Given the description of an element on the screen output the (x, y) to click on. 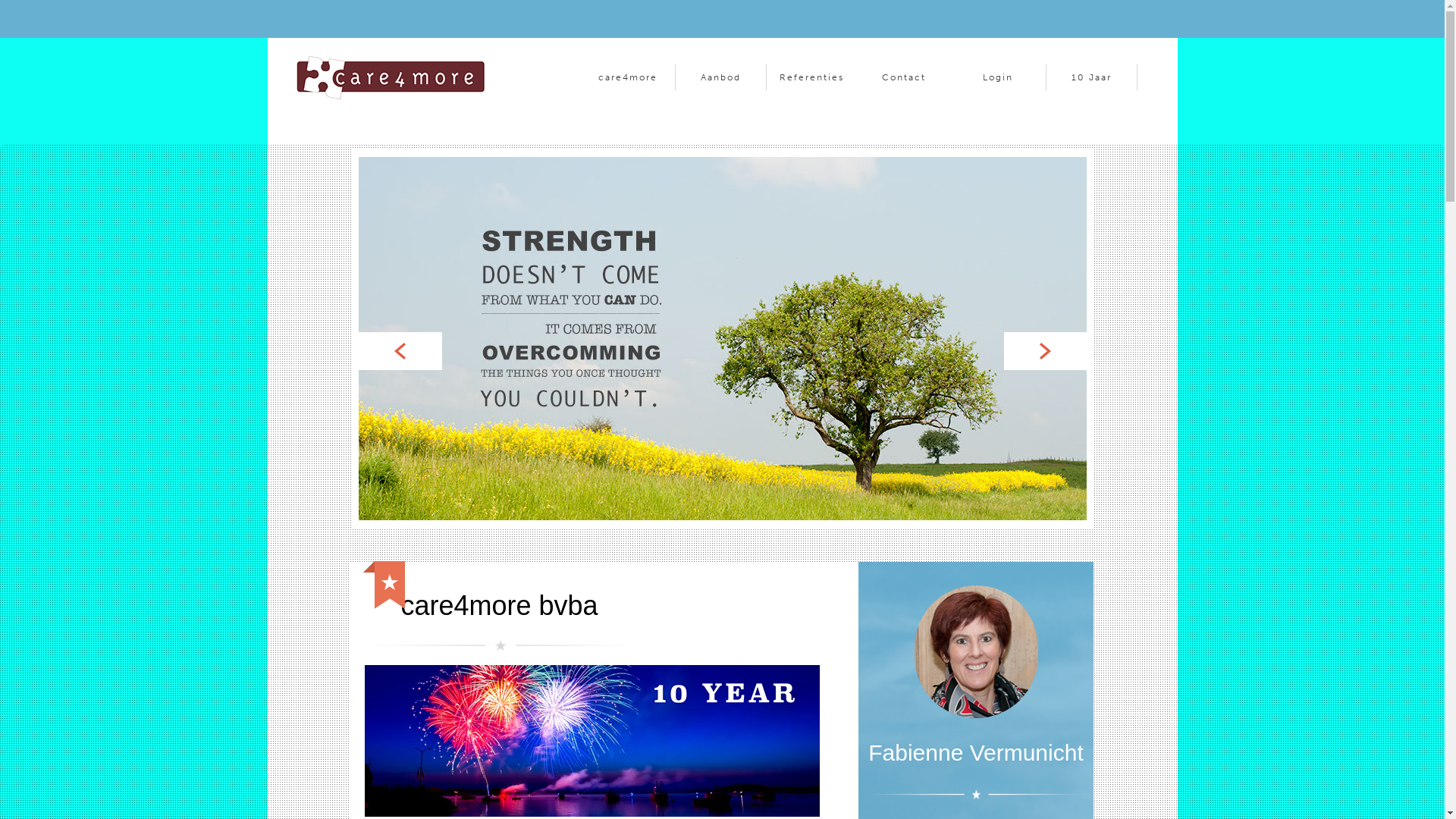
Referenties Element type: text (811, 77)
Contact Element type: text (903, 77)
Aanbod Element type: text (720, 77)
10 jaar care4more Element type: hover (591, 740)
care4more Element type: text (627, 77)
